Given the description of an element on the screen output the (x, y) to click on. 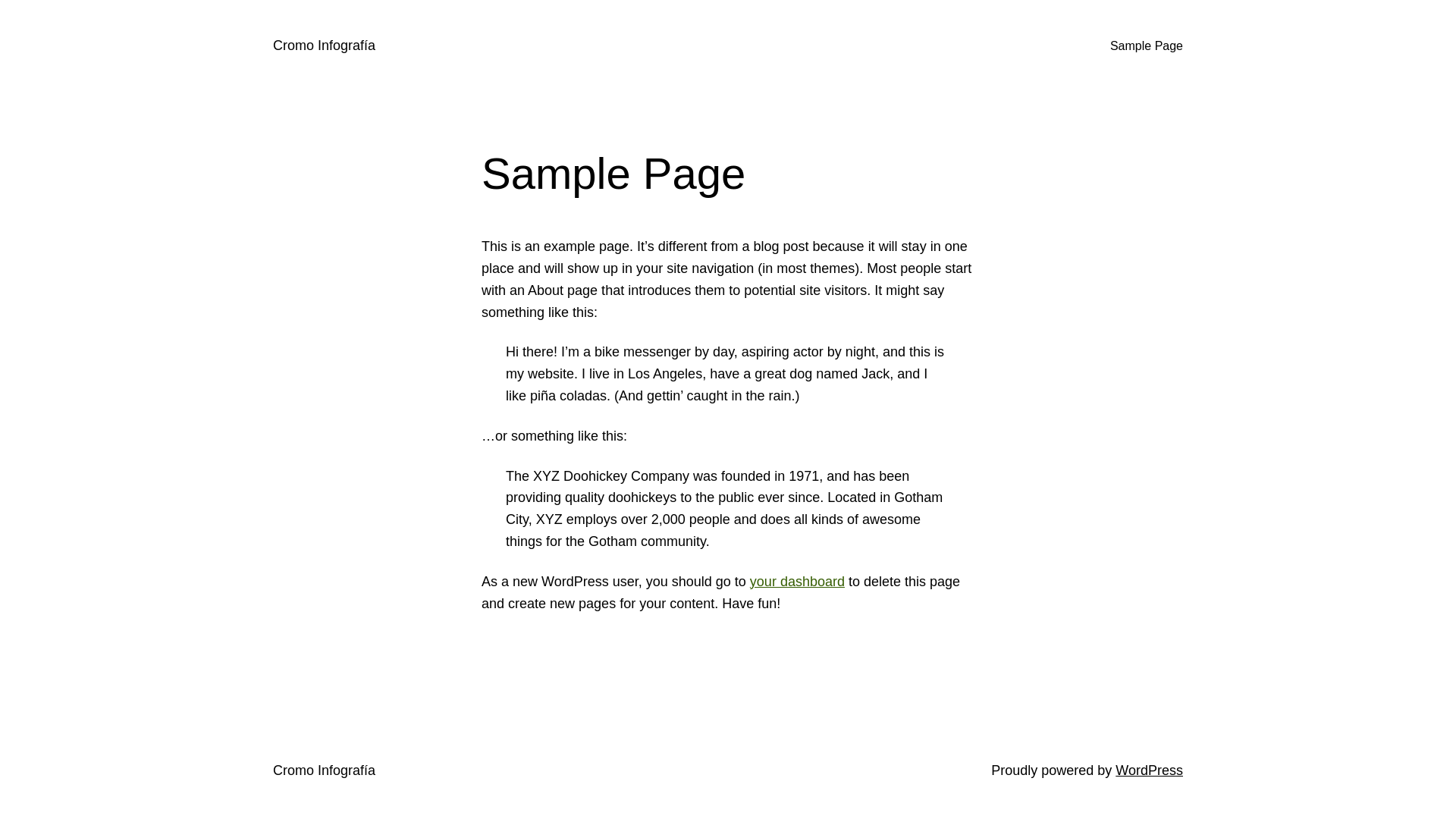
Sample Page Element type: text (1146, 46)
WordPress Element type: text (1149, 770)
your dashboard Element type: text (796, 581)
